Given the description of an element on the screen output the (x, y) to click on. 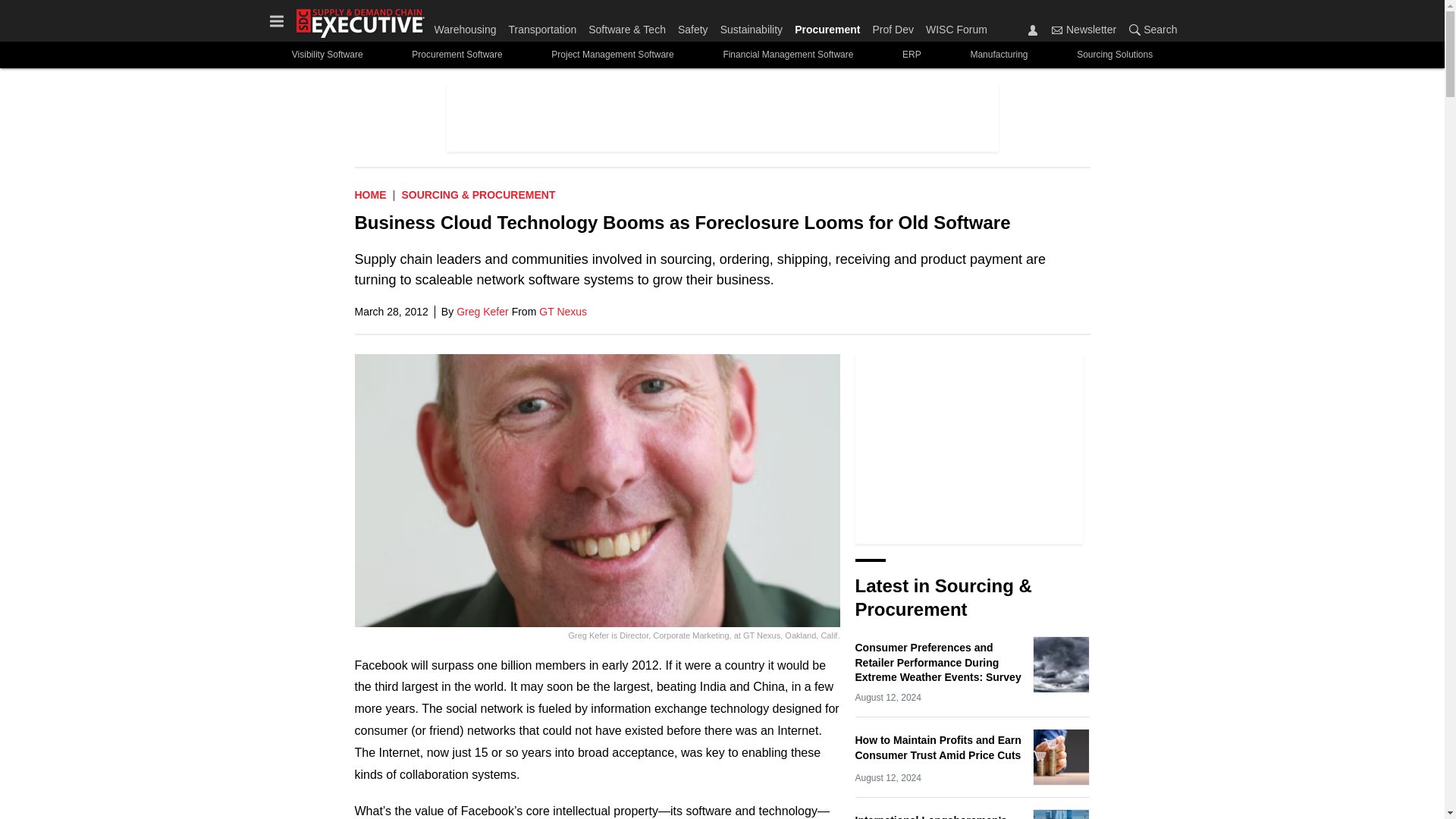
ERP (911, 54)
Manufacturing (999, 54)
WISC Forum (953, 26)
Project Management Software (612, 54)
Sign In (1032, 29)
Procurement (827, 26)
Visibility Software (326, 54)
Sustainability (751, 26)
Newsletter (1056, 29)
Financial Management Software (788, 54)
